Given the description of an element on the screen output the (x, y) to click on. 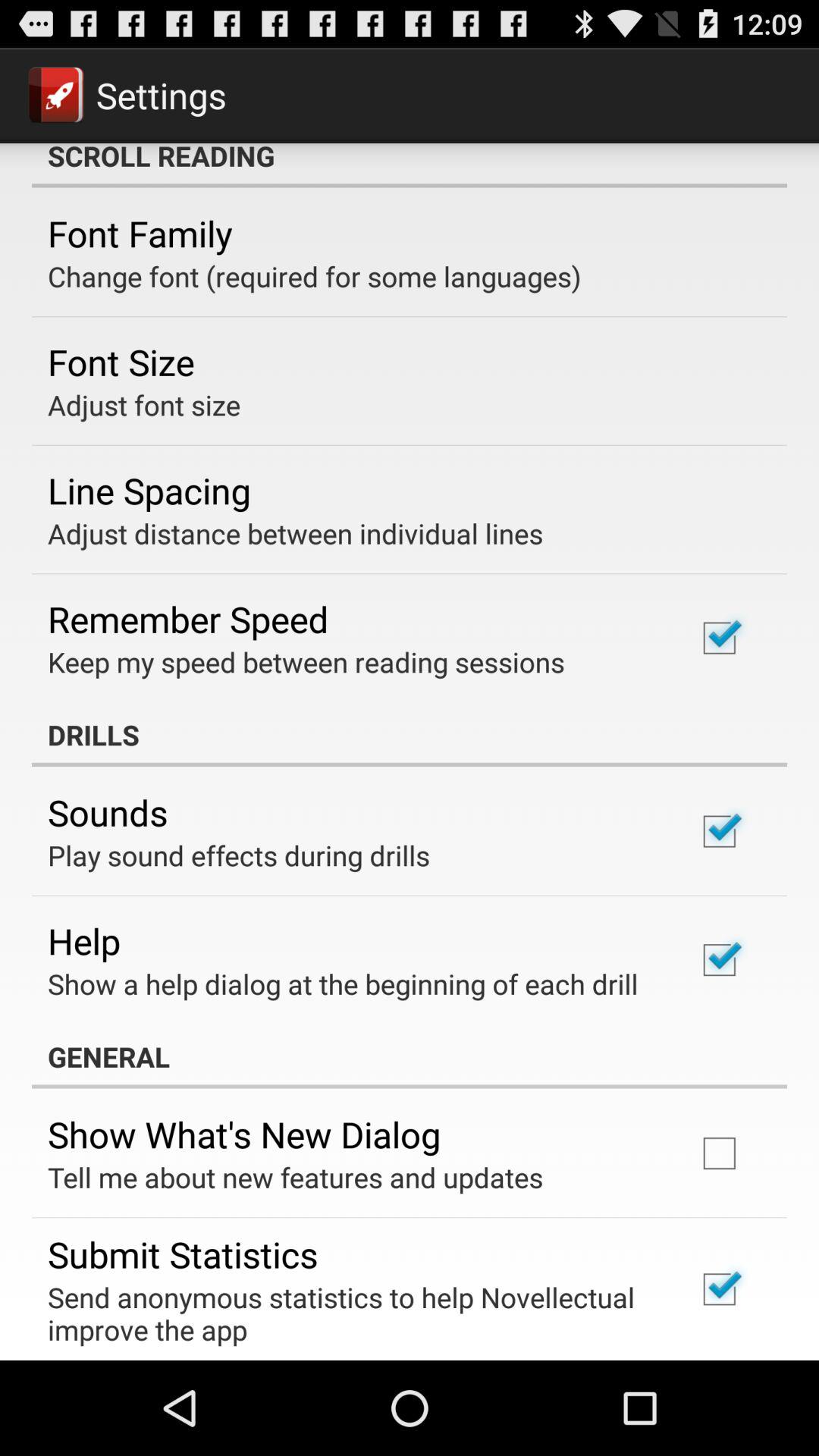
open the item below adjust font size icon (148, 490)
